Given the description of an element on the screen output the (x, y) to click on. 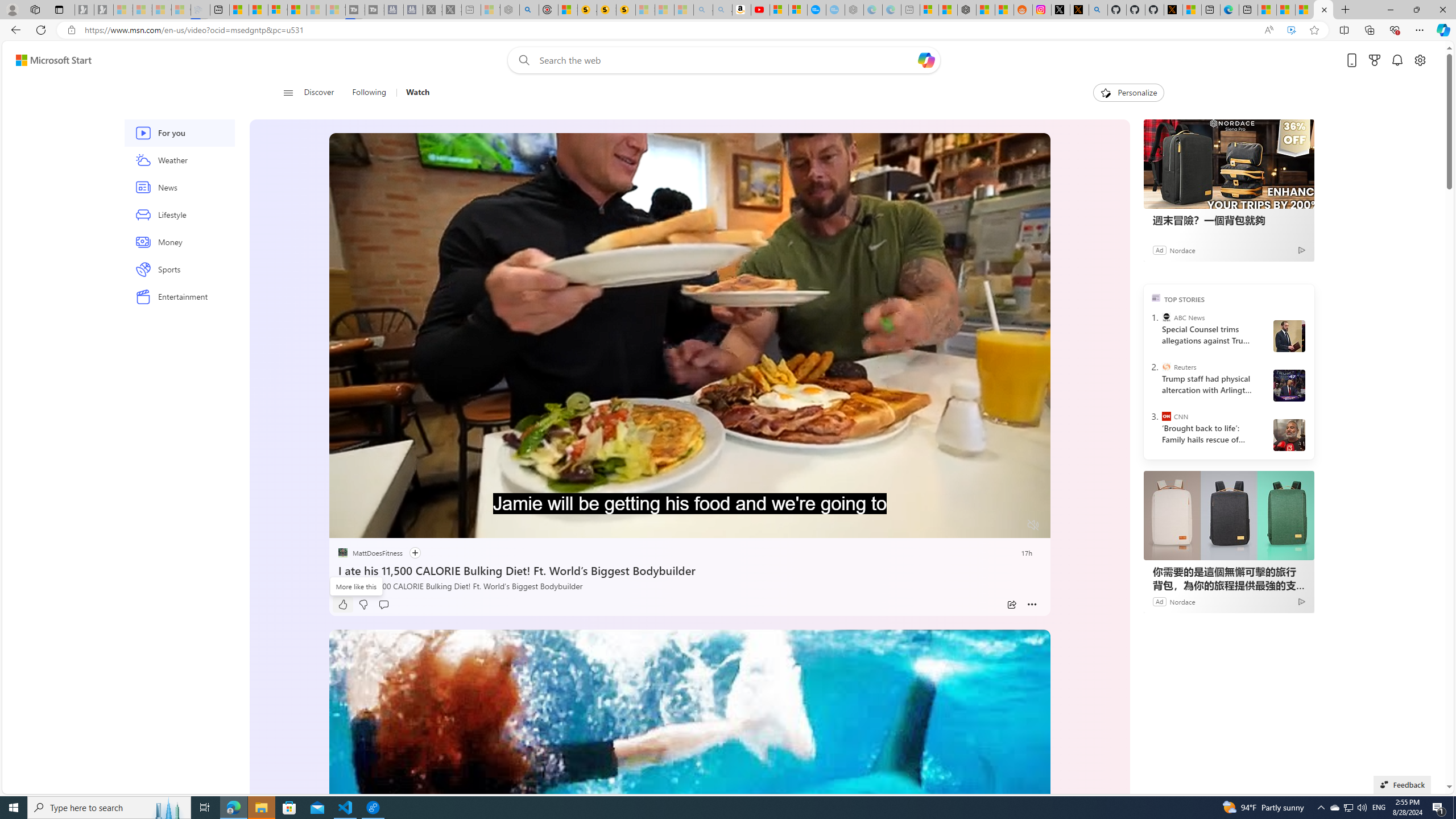
Reuters (1165, 366)
Microsoft Start - Sleeping (315, 9)
Notifications (1397, 60)
Share (1010, 604)
Ad Choice (1300, 601)
